Given the description of an element on the screen output the (x, y) to click on. 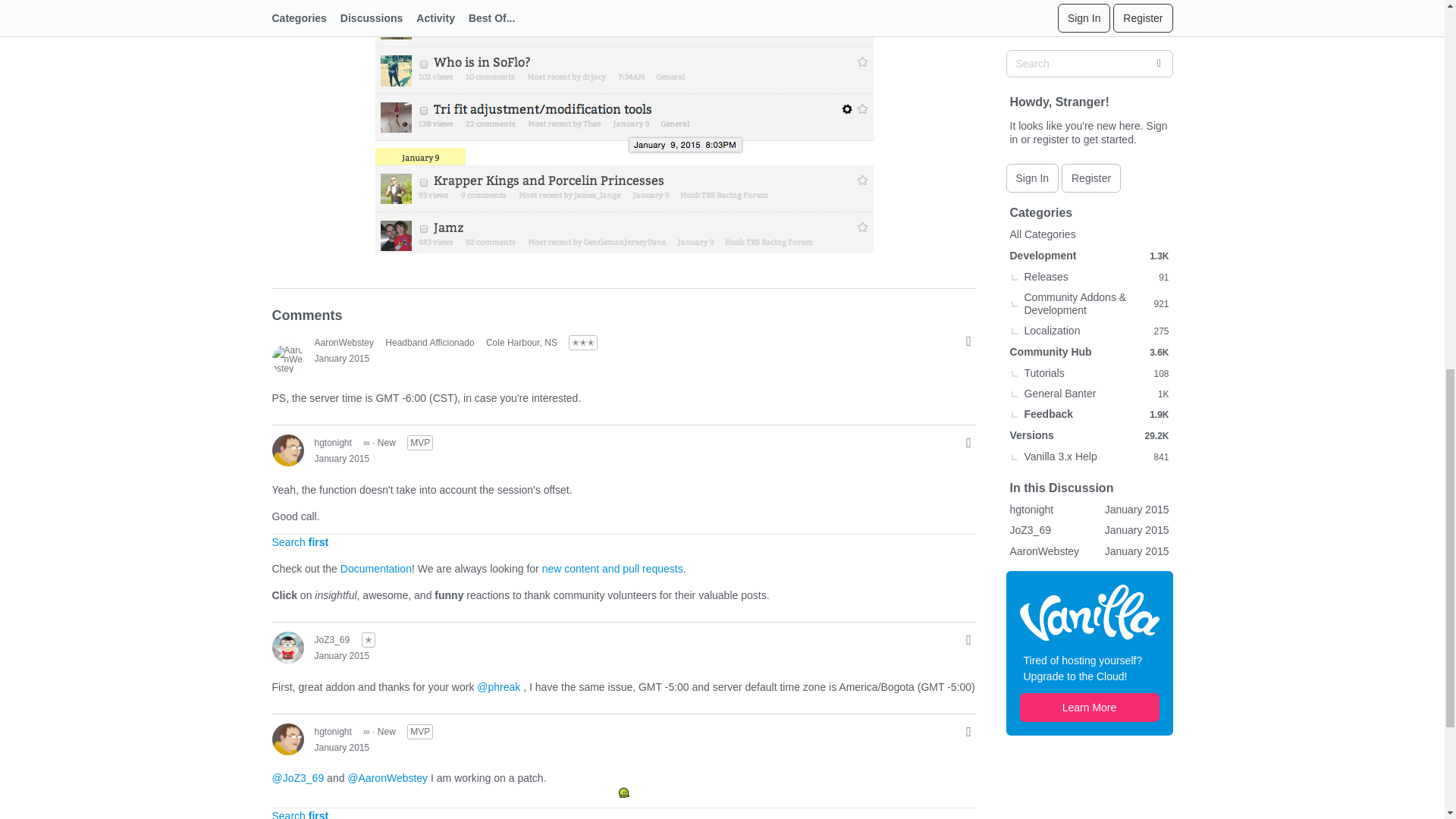
new content and pull requests (611, 568)
Search first (299, 541)
hgtonight (286, 450)
Level 3 (582, 342)
January 2015 (341, 458)
January 11, 2015 1:56AM (341, 458)
Most Valuable Poster (419, 442)
AaronWebstey (344, 341)
January 11, 2015 1:05AM (341, 357)
January 2015 (341, 357)
hgtonight (332, 442)
AaronWebstey (286, 358)
Documentation (376, 568)
